Given the description of an element on the screen output the (x, y) to click on. 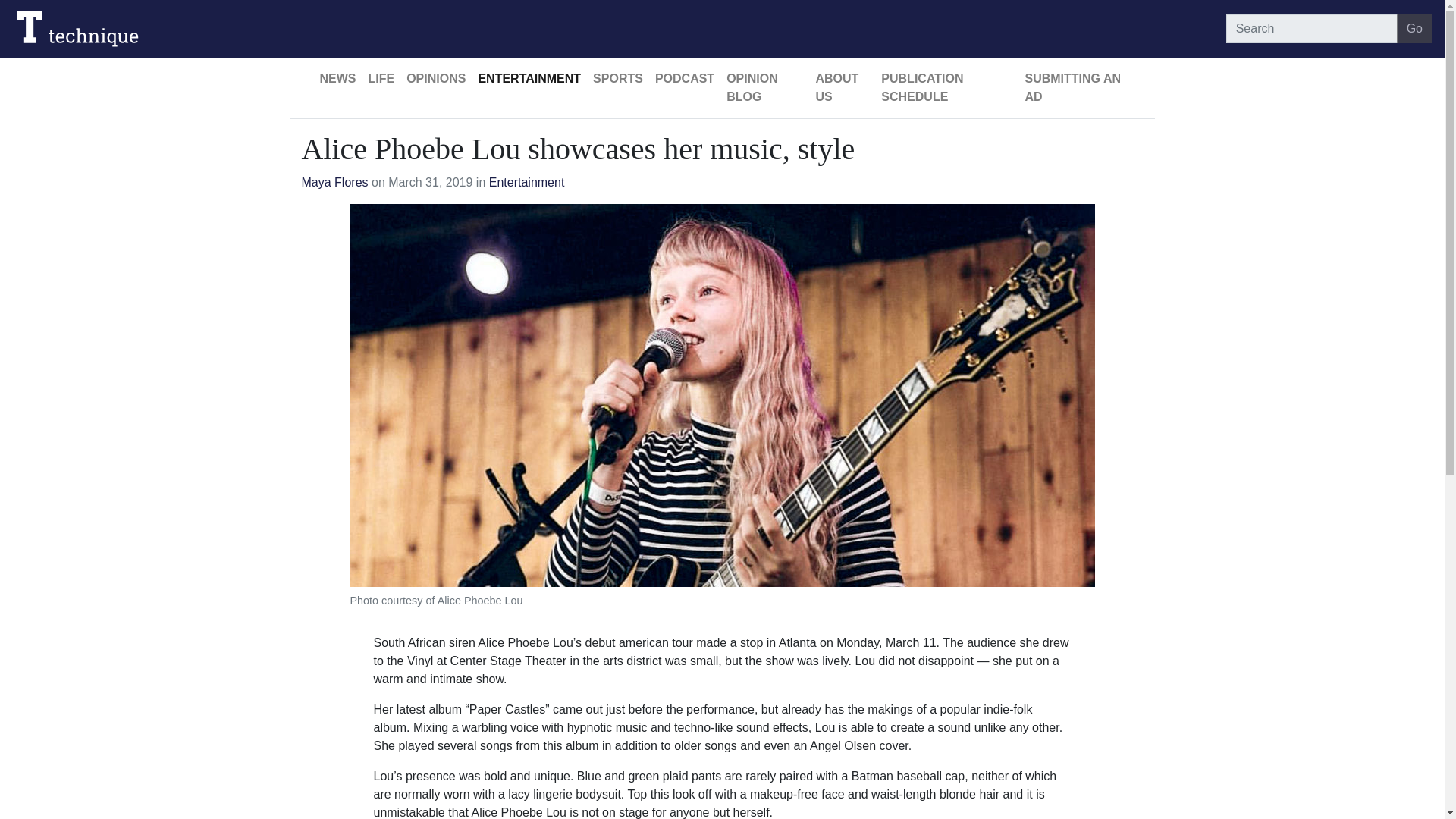
LIFE (381, 78)
News (338, 78)
SPORTS (617, 78)
Go (1414, 28)
PODCAST (684, 78)
Life (381, 78)
Opinions (435, 78)
PUBLICATION SCHEDULE (946, 87)
Podcast (684, 78)
About Us (842, 87)
Publication Schedule (946, 87)
Opinion Blog (764, 87)
Submitting An Ad (1074, 87)
Sports (617, 78)
OPINIONS (435, 78)
